Given the description of an element on the screen output the (x, y) to click on. 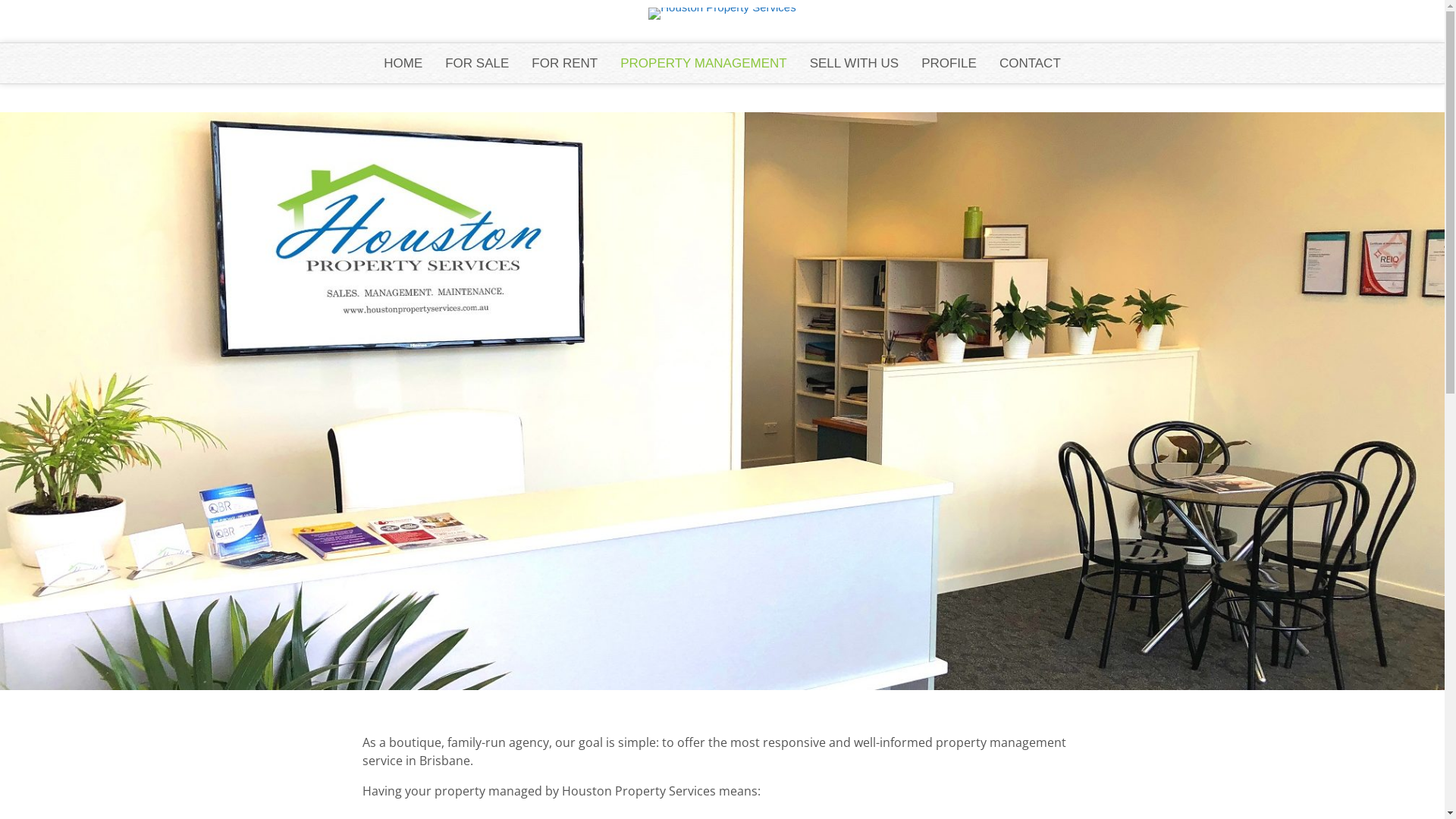
FOR SALE Element type: text (476, 63)
CONTACT Element type: text (1030, 63)
HOME Element type: text (402, 63)
SELL WITH US Element type: text (854, 63)
Houston Property Services Element type: hover (721, 6)
PROFILE Element type: text (949, 63)
FOR RENT Element type: text (564, 63)
PROPERTY MANAGEMENT Element type: text (702, 63)
